Given the description of an element on the screen output the (x, y) to click on. 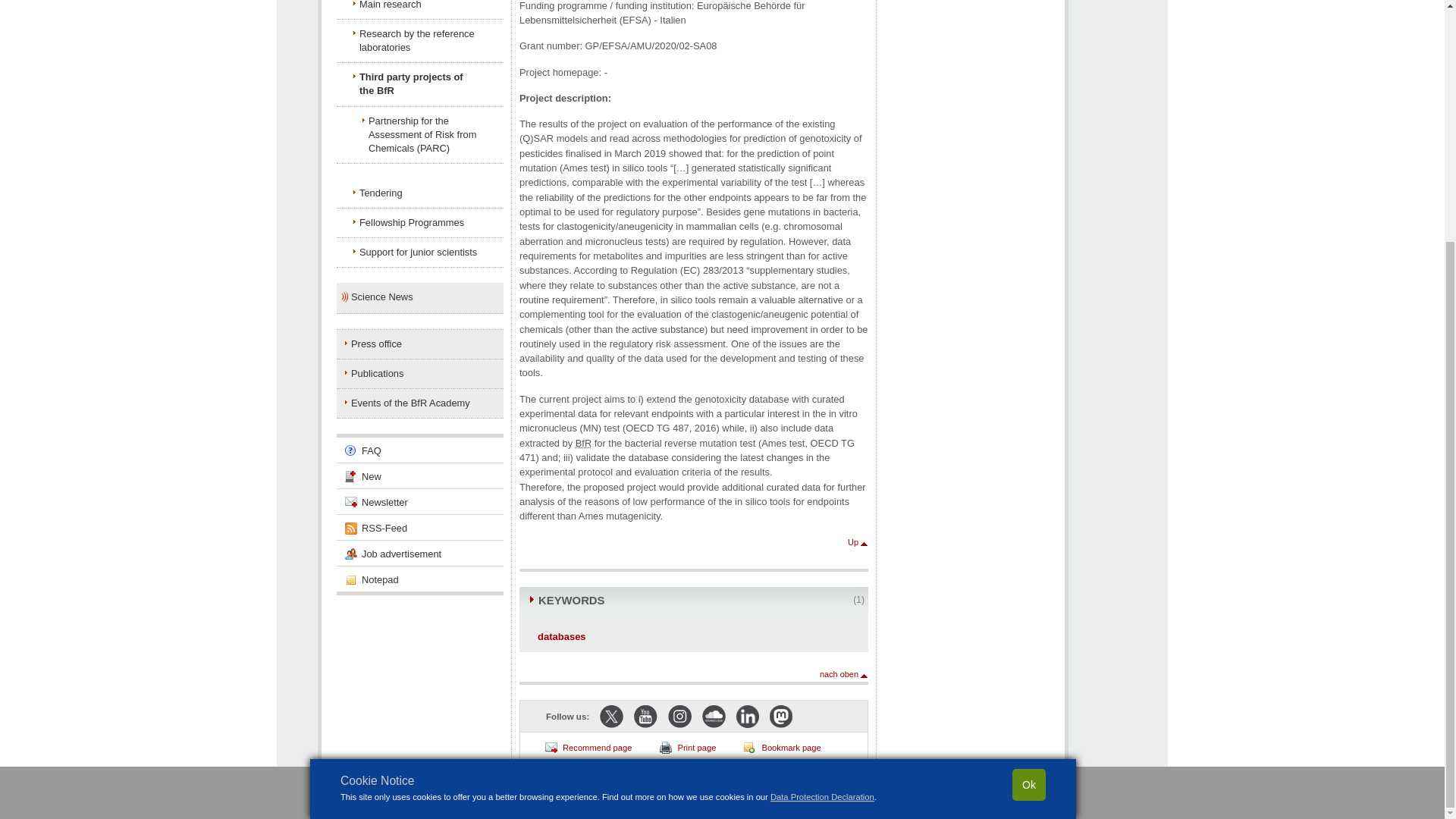
Ok (1028, 450)
